Given the description of an element on the screen output the (x, y) to click on. 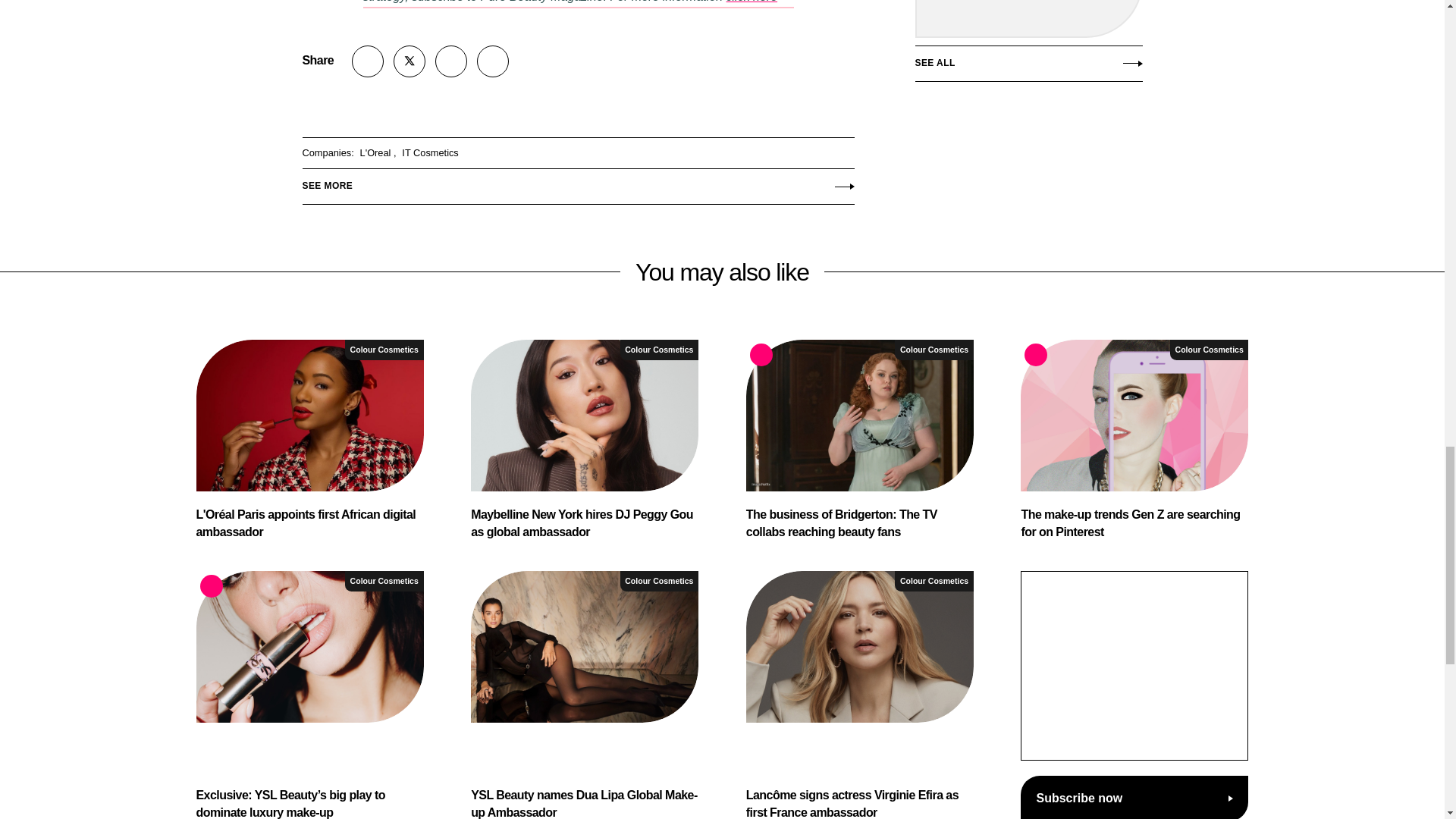
X (409, 60)
Share this article (368, 60)
click here (751, 1)
Share (368, 60)
LinkedIn (451, 60)
Follow Cosmetics Business on X (409, 60)
Follow Cosmetics Business on LinkedIn (451, 60)
Facebook (492, 60)
